Given the description of an element on the screen output the (x, y) to click on. 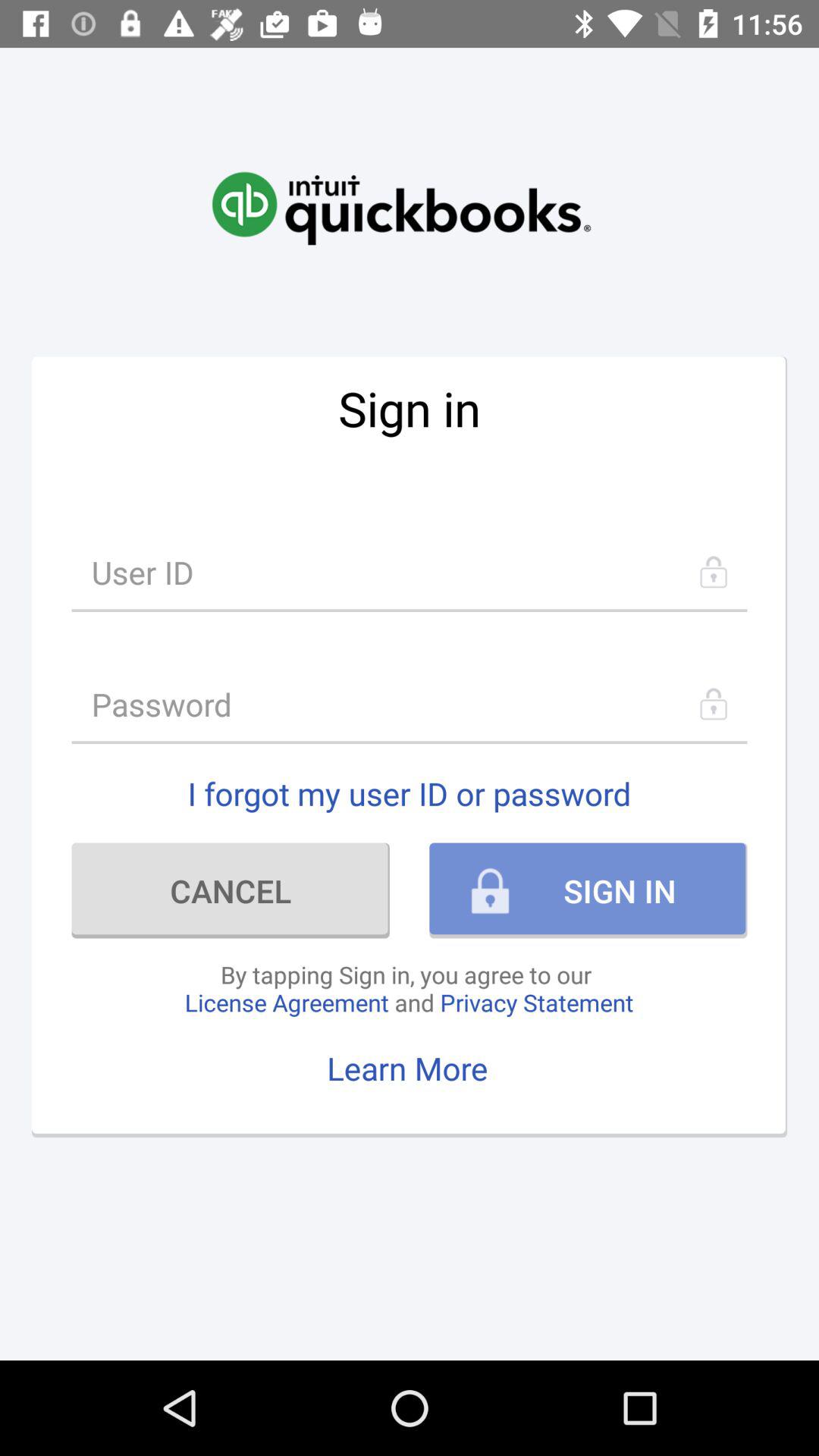
turn off the icon below sign in icon (409, 571)
